Given the description of an element on the screen output the (x, y) to click on. 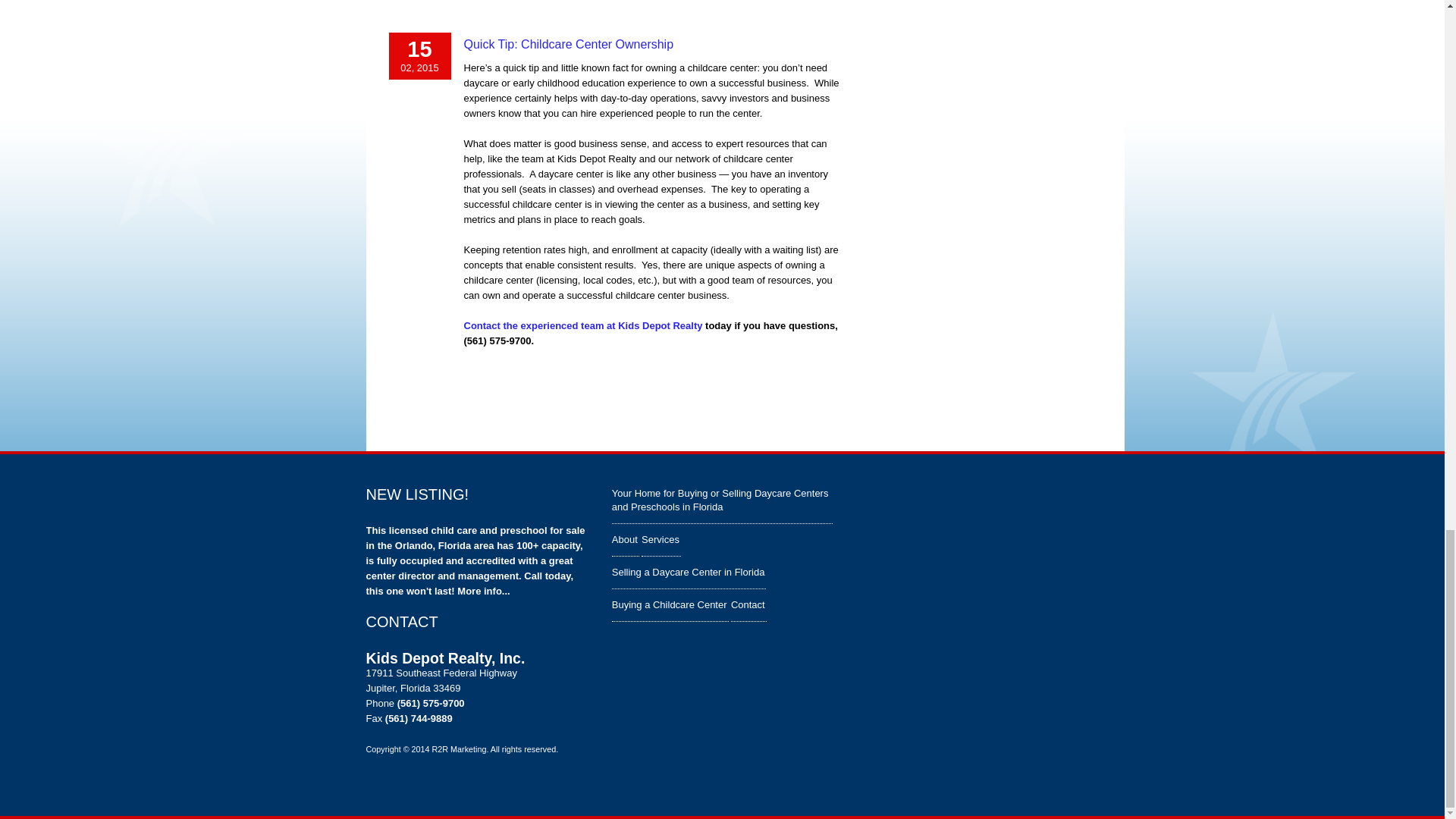
More info... (483, 591)
Selling a Daycare Center in Florida (689, 572)
Services (661, 540)
Quick Tip: Childcare Center Ownership (569, 43)
Contact Us (583, 325)
Buying a Childcare Center (670, 604)
Contact (748, 604)
Contact the experienced team at Kids Depot Realty (583, 325)
